Given the description of an element on the screen output the (x, y) to click on. 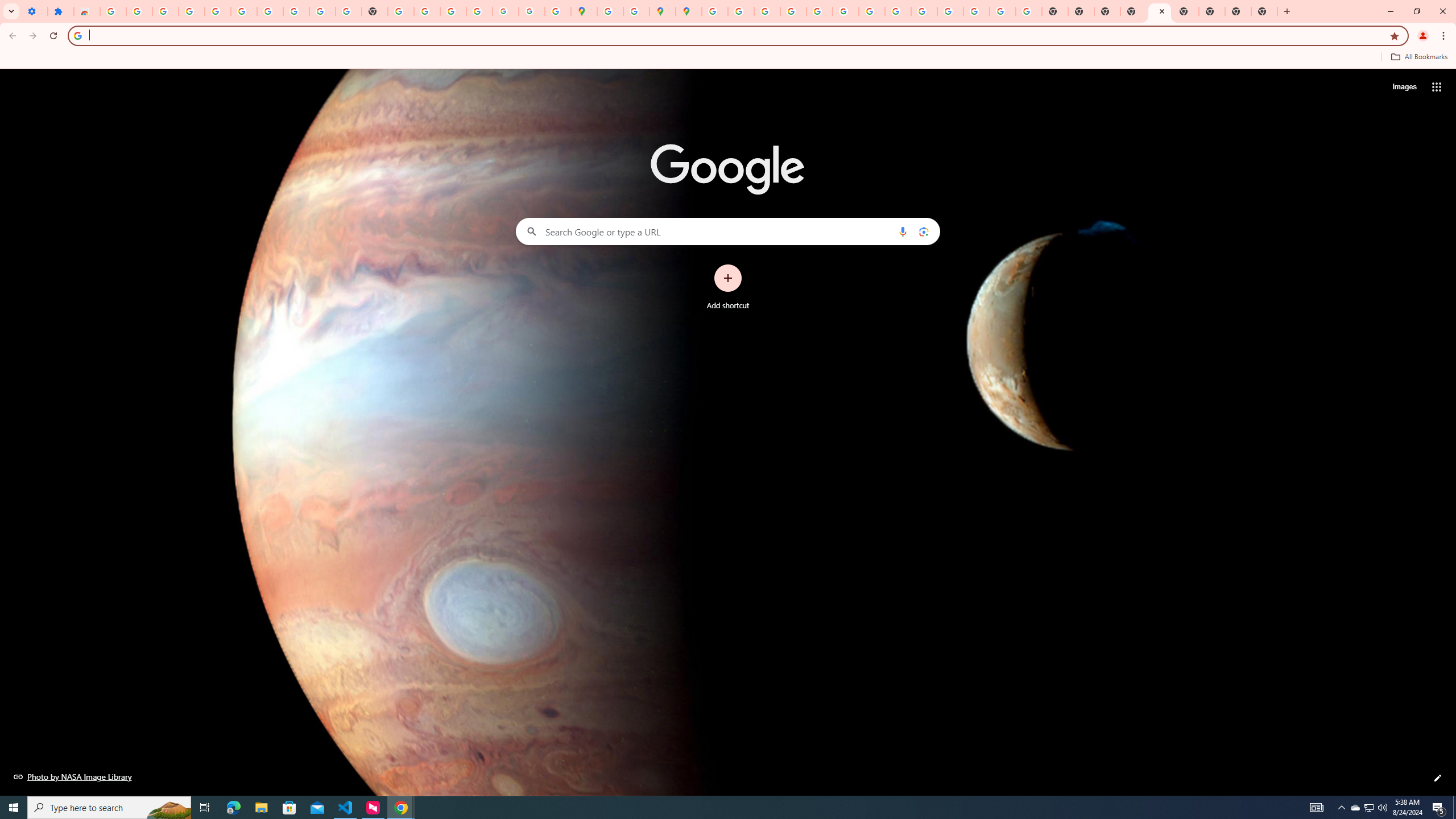
Customize this page (1437, 778)
Photo by NASA Image Library (72, 776)
Google Account (296, 11)
Restore (1416, 11)
All Bookmarks (1418, 56)
YouTube (322, 11)
New Tab (1264, 11)
Delete photos & videos - Computer - Google Photos Help (165, 11)
Privacy Help Center - Policies Help (766, 11)
Search tabs (10, 11)
https://scholar.google.com/ (400, 11)
